Given the description of an element on the screen output the (x, y) to click on. 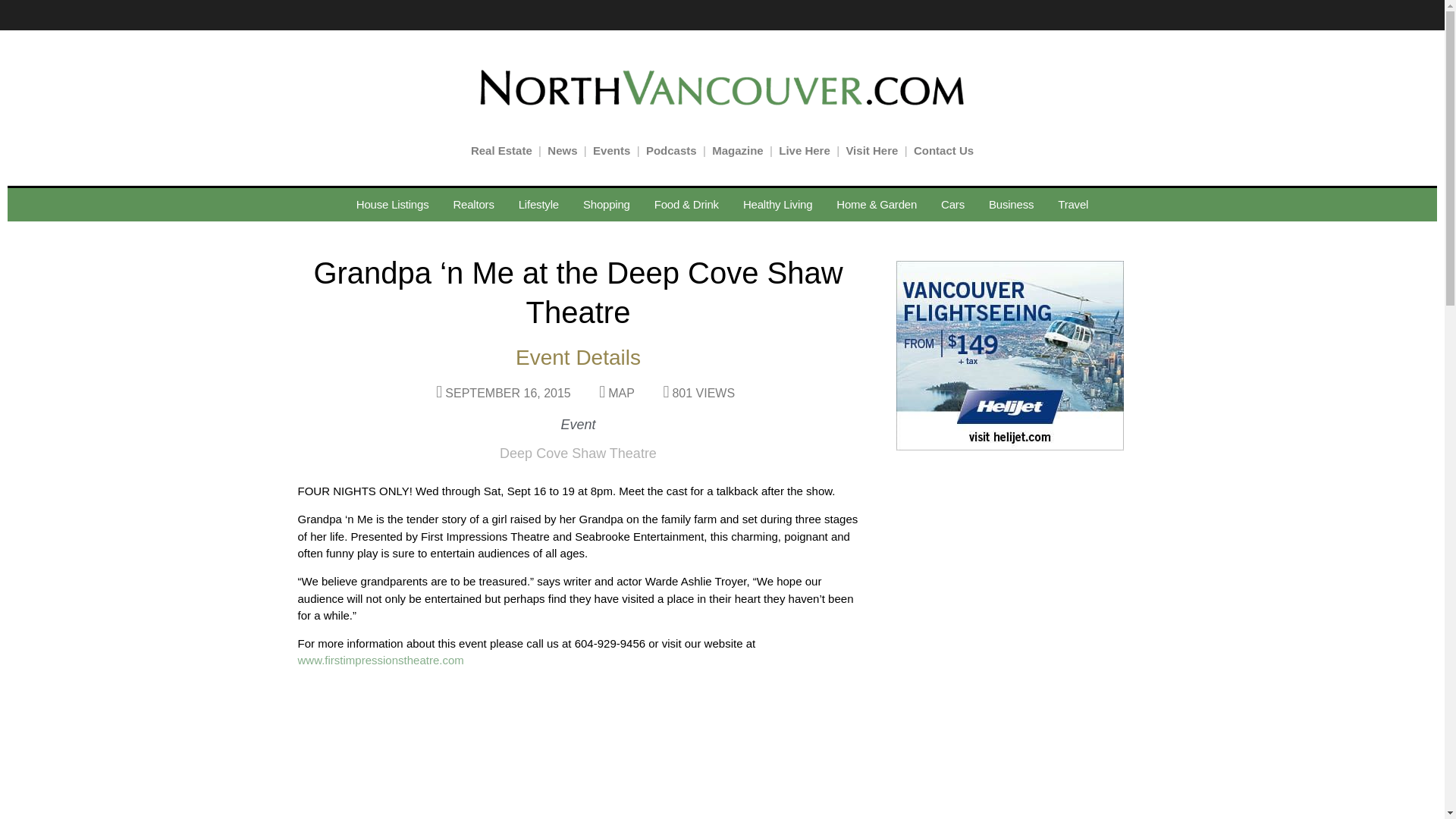
Advertisement (1005, 560)
Healthy Living (777, 204)
Real Estate (501, 150)
Lifestyle (538, 204)
News (561, 150)
Magazine (736, 150)
event (380, 659)
Contact Us (944, 150)
Advertisement (1005, 744)
Realtors (473, 204)
Shopping (606, 204)
Podcasts (671, 150)
Events (611, 150)
Live Here (803, 150)
Visit Here (871, 150)
